Given the description of an element on the screen output the (x, y) to click on. 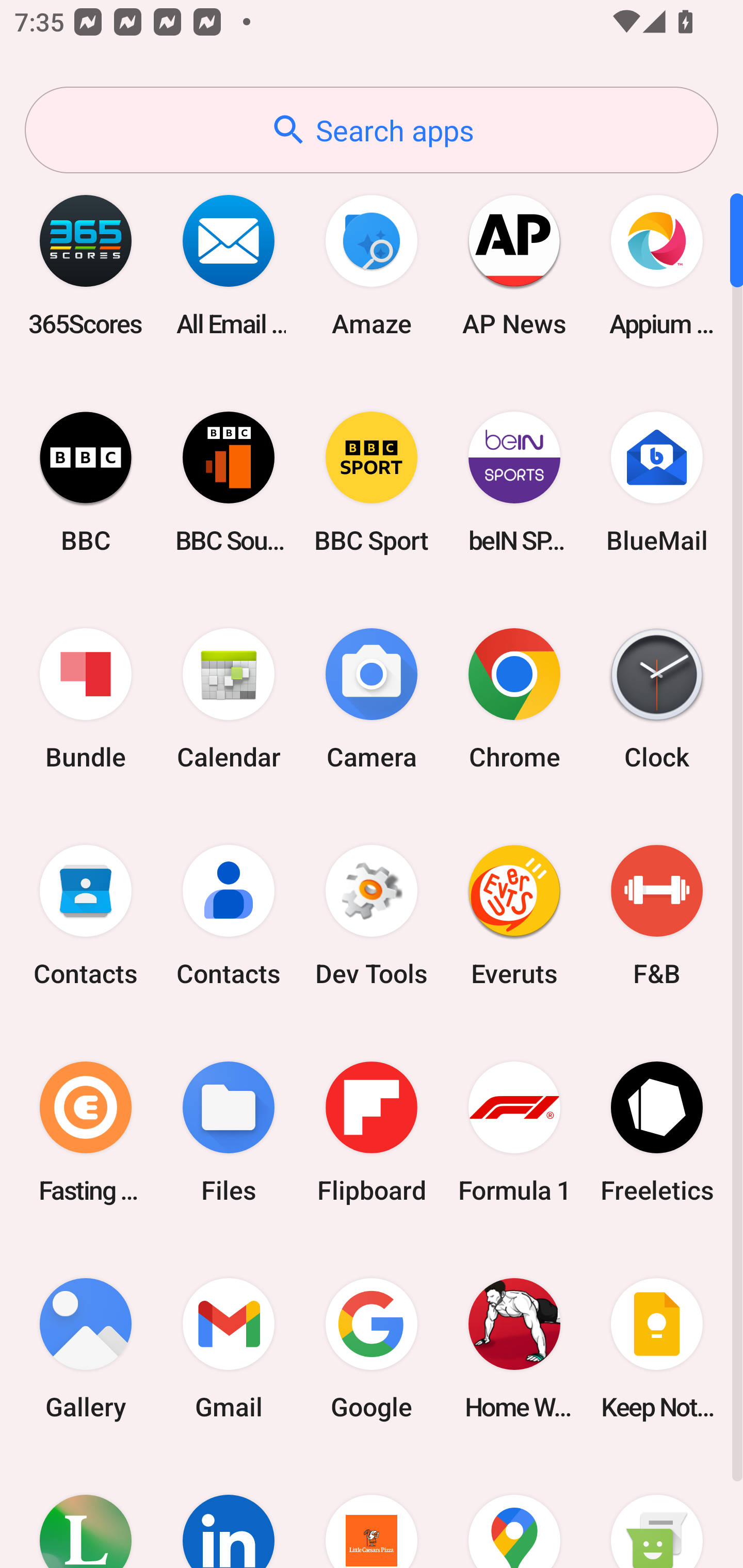
  Search apps (371, 130)
365Scores (85, 264)
All Email Connect (228, 264)
Amaze (371, 264)
AP News (514, 264)
Appium Settings (656, 264)
BBC (85, 482)
BBC Sounds (228, 482)
BBC Sport (371, 482)
beIN SPORTS (514, 482)
BlueMail (656, 482)
Bundle (85, 699)
Calendar (228, 699)
Camera (371, 699)
Chrome (514, 699)
Clock (656, 699)
Contacts (85, 915)
Contacts (228, 915)
Dev Tools (371, 915)
Everuts (514, 915)
F&B (656, 915)
Fasting Coach (85, 1131)
Files (228, 1131)
Flipboard (371, 1131)
Formula 1 (514, 1131)
Freeletics (656, 1131)
Gallery (85, 1348)
Gmail (228, 1348)
Google (371, 1348)
Home Workout (514, 1348)
Keep Notes (656, 1348)
Lifesum (85, 1512)
LinkedIn (228, 1512)
Little Caesars Pizza (371, 1512)
Maps (514, 1512)
Messaging (656, 1512)
